Given the description of an element on the screen output the (x, y) to click on. 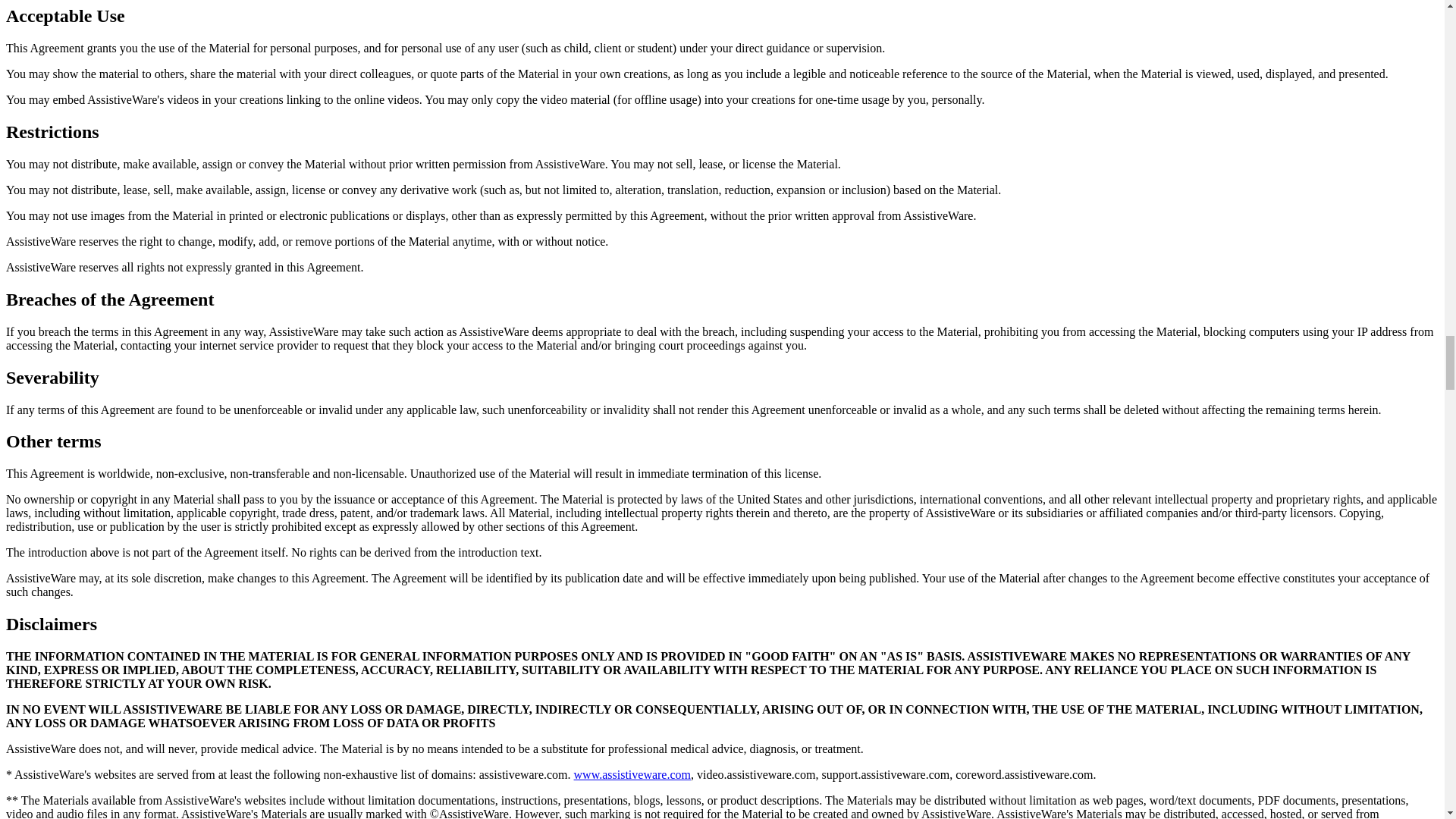
www.assistiveware.com (631, 774)
